Given the description of an element on the screen output the (x, y) to click on. 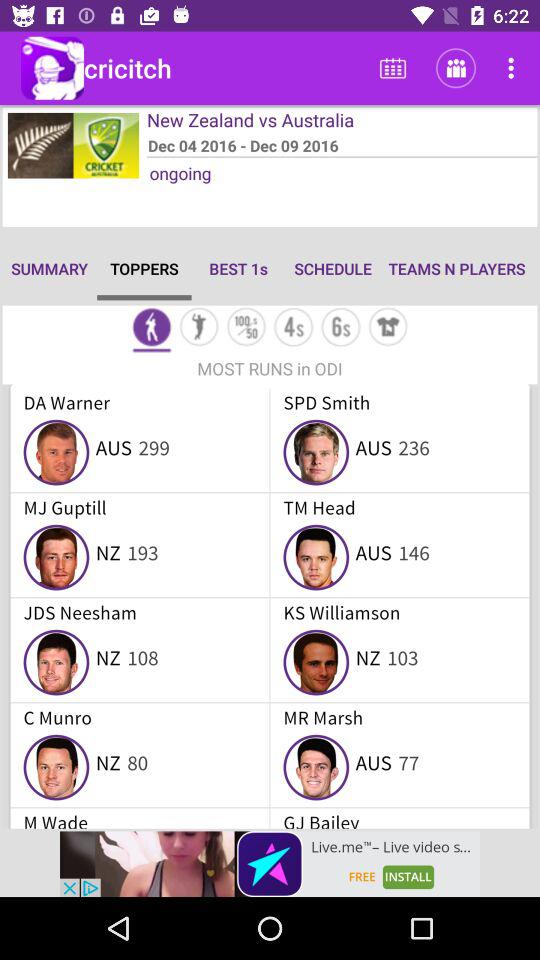
section for operation mode (198, 328)
